Given the description of an element on the screen output the (x, y) to click on. 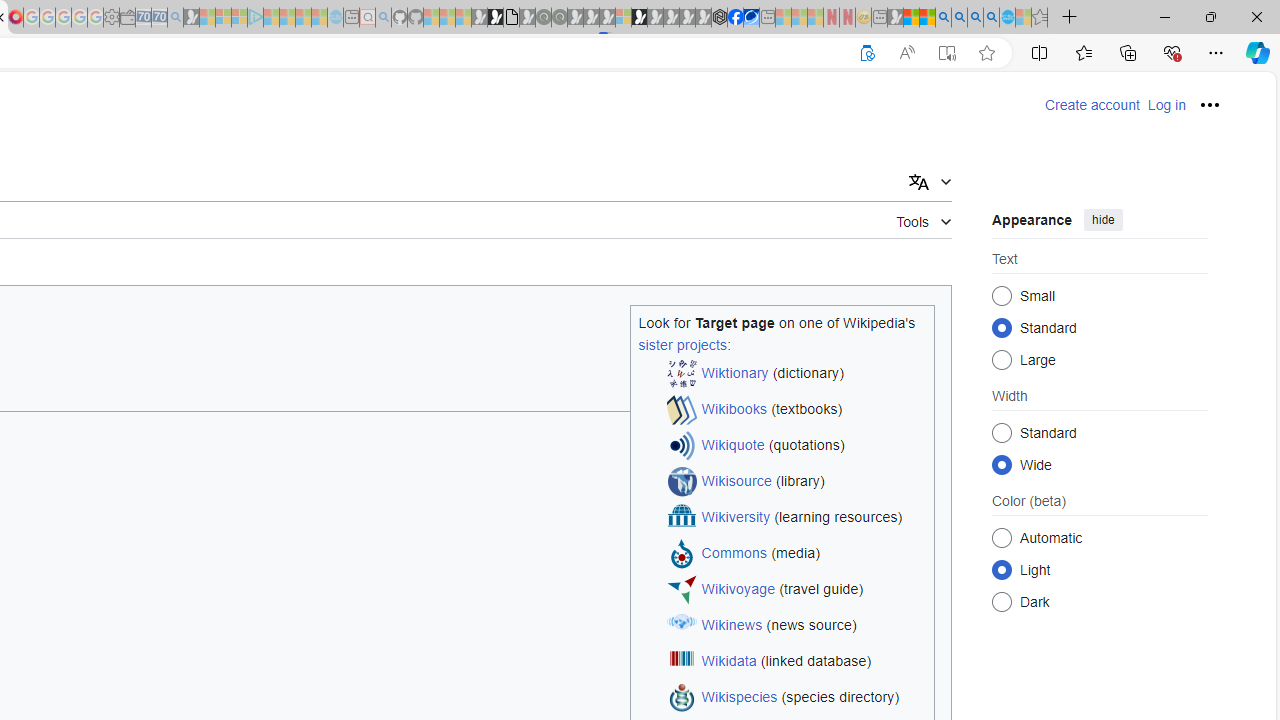
Support Wikipedia? (867, 53)
Nordace | Facebook (735, 17)
Class: mw-list-item mw-list-item-js (1100, 569)
Microsoft Start Gaming - Sleeping (191, 17)
Personal tools (1210, 104)
Wikidata (linked database) (796, 662)
Nordace - Cooler Bags (719, 17)
Wikivoyage (738, 589)
Standard (1002, 431)
